Given the description of an element on the screen output the (x, y) to click on. 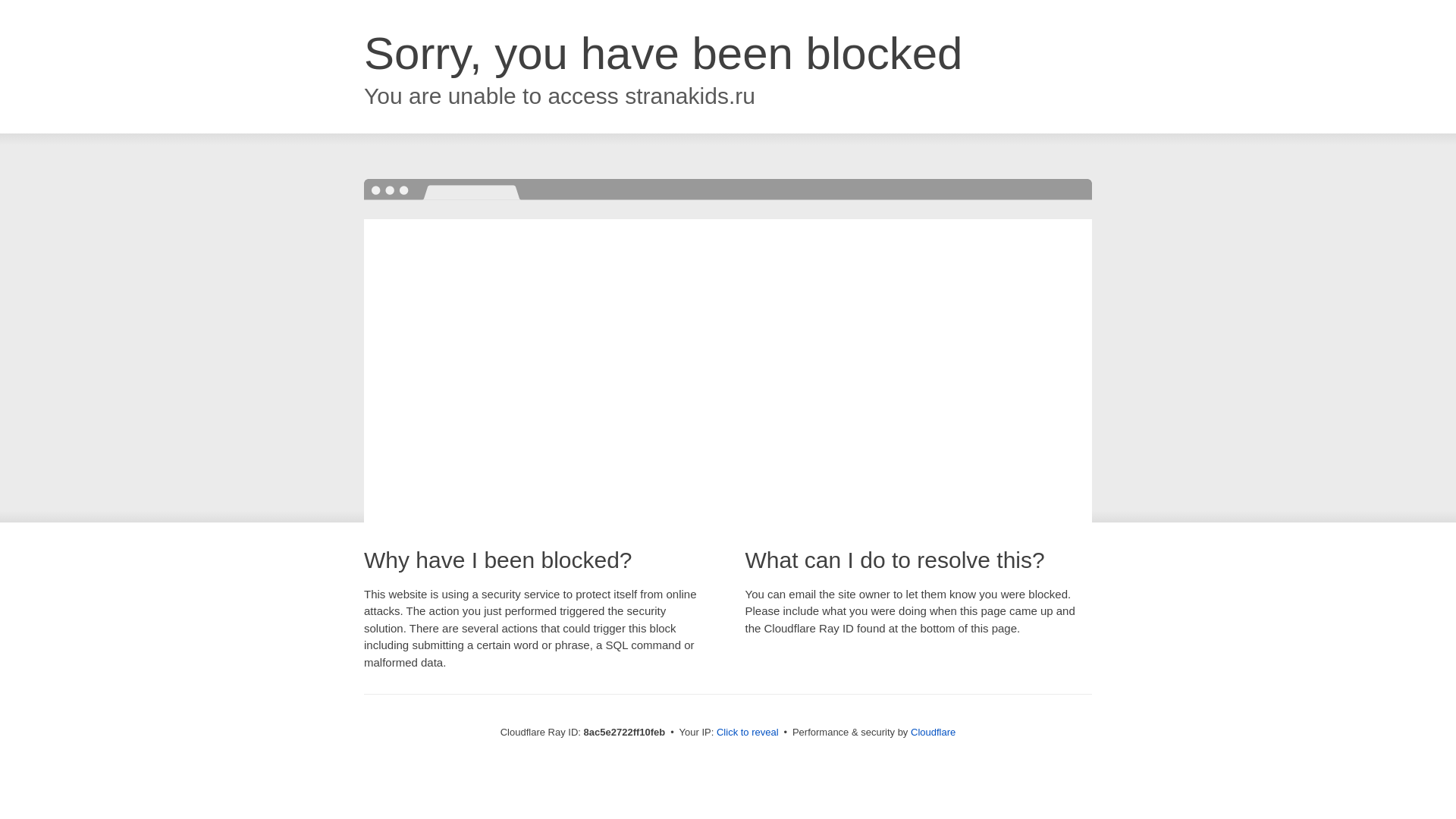
Click to reveal (747, 732)
Cloudflare (933, 731)
